Given the description of an element on the screen output the (x, y) to click on. 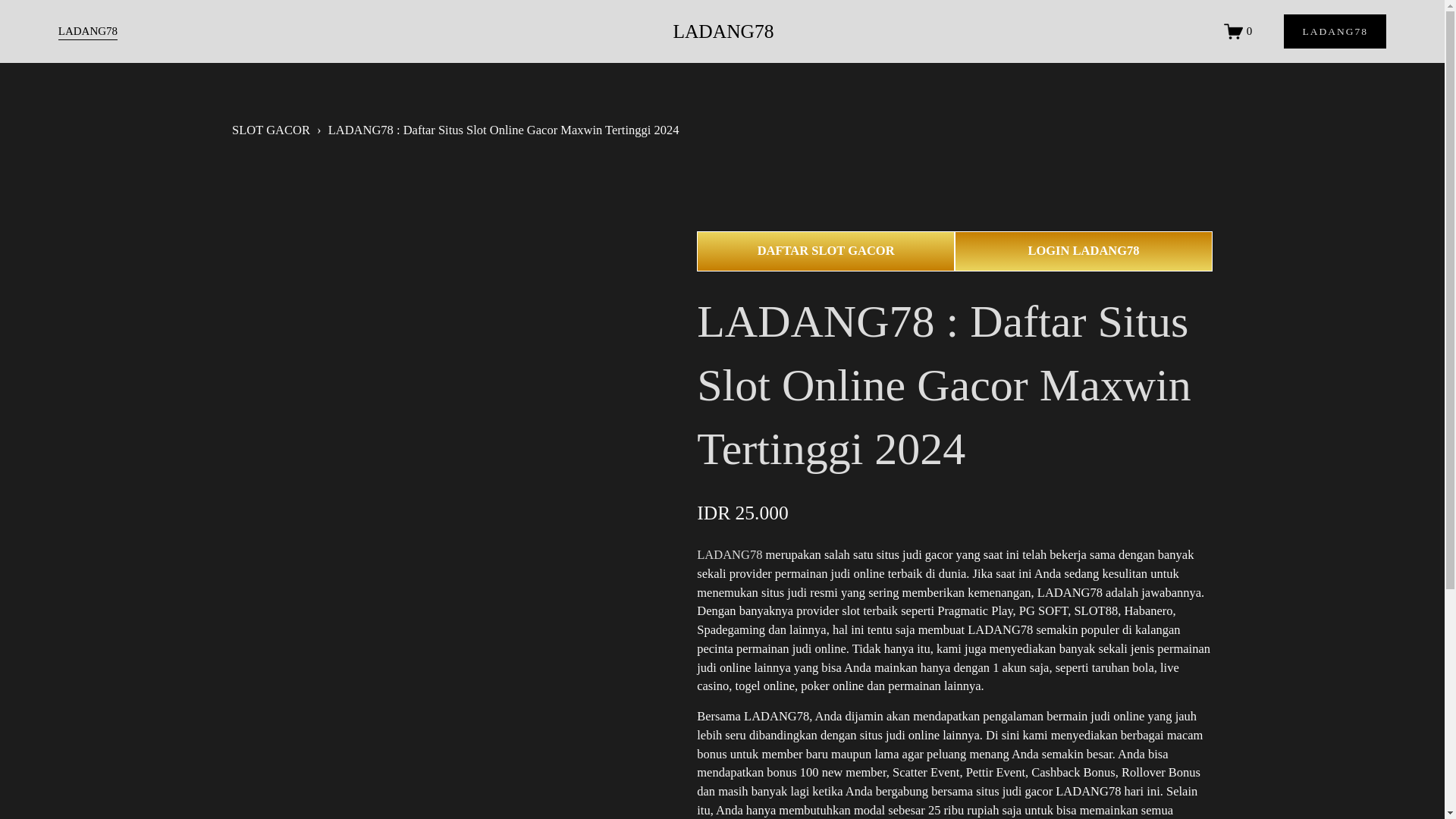
LADANG78 (722, 31)
SLOT GACOR (270, 129)
LOGIN LADANG78 (1083, 250)
0 (1238, 31)
LADANG78 (87, 31)
LADANG78 (729, 554)
LADANG78 (1335, 31)
DAFTAR SLOT GACOR (826, 250)
